Given the description of an element on the screen output the (x, y) to click on. 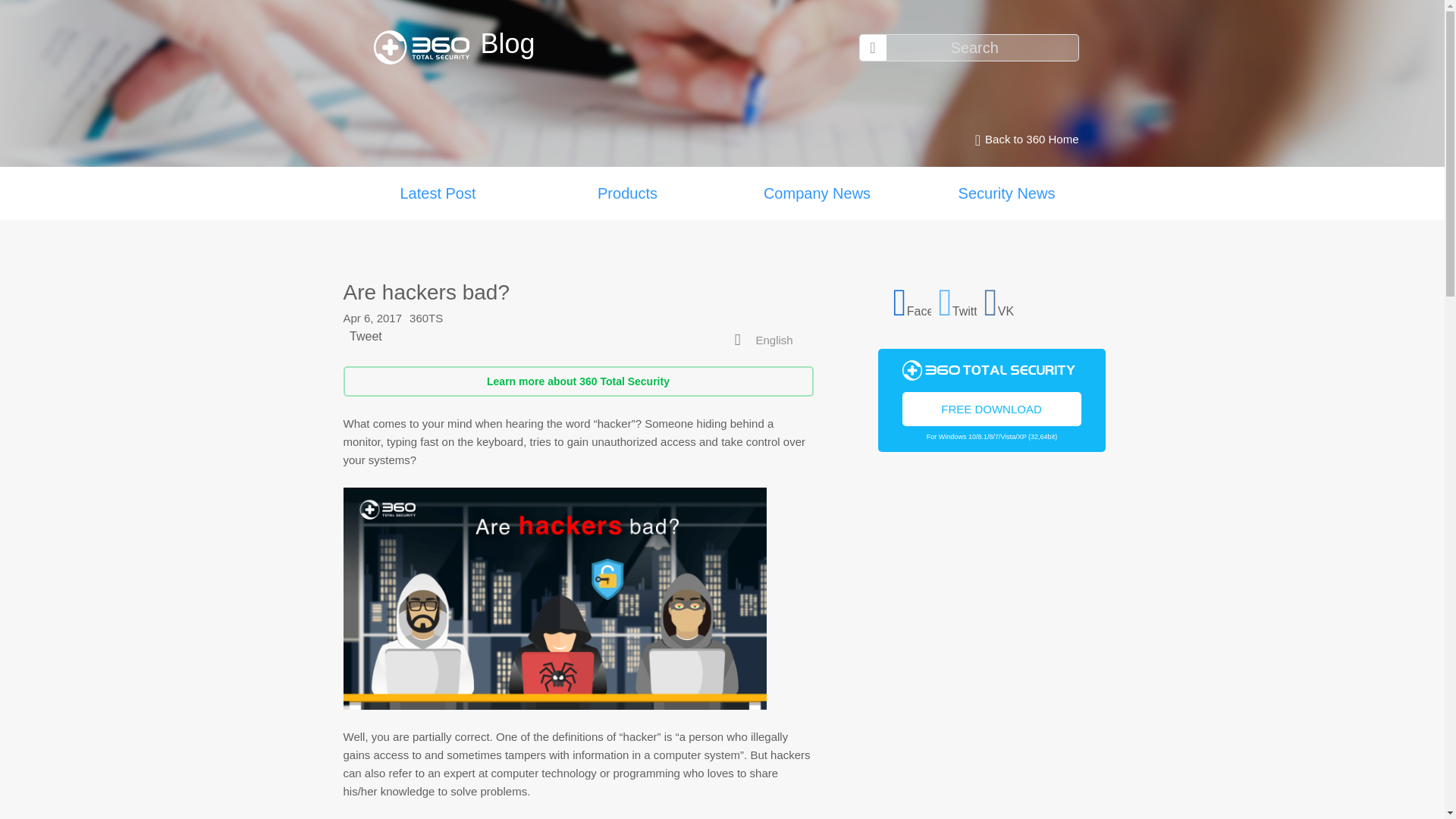
Company News (816, 193)
Security News (1005, 193)
Learn more about 360 Total Security (577, 381)
Tweet (365, 336)
Twitter (957, 299)
FREE DOWNLOAD (991, 408)
Facebook (912, 299)
Back to 360 Home (1022, 140)
VK (1003, 299)
Free Download (991, 408)
360 Total Security Blog Logo (426, 47)
Learn more about 360 Total Security (577, 381)
Products (627, 193)
Latest Post (437, 193)
